Given the description of an element on the screen output the (x, y) to click on. 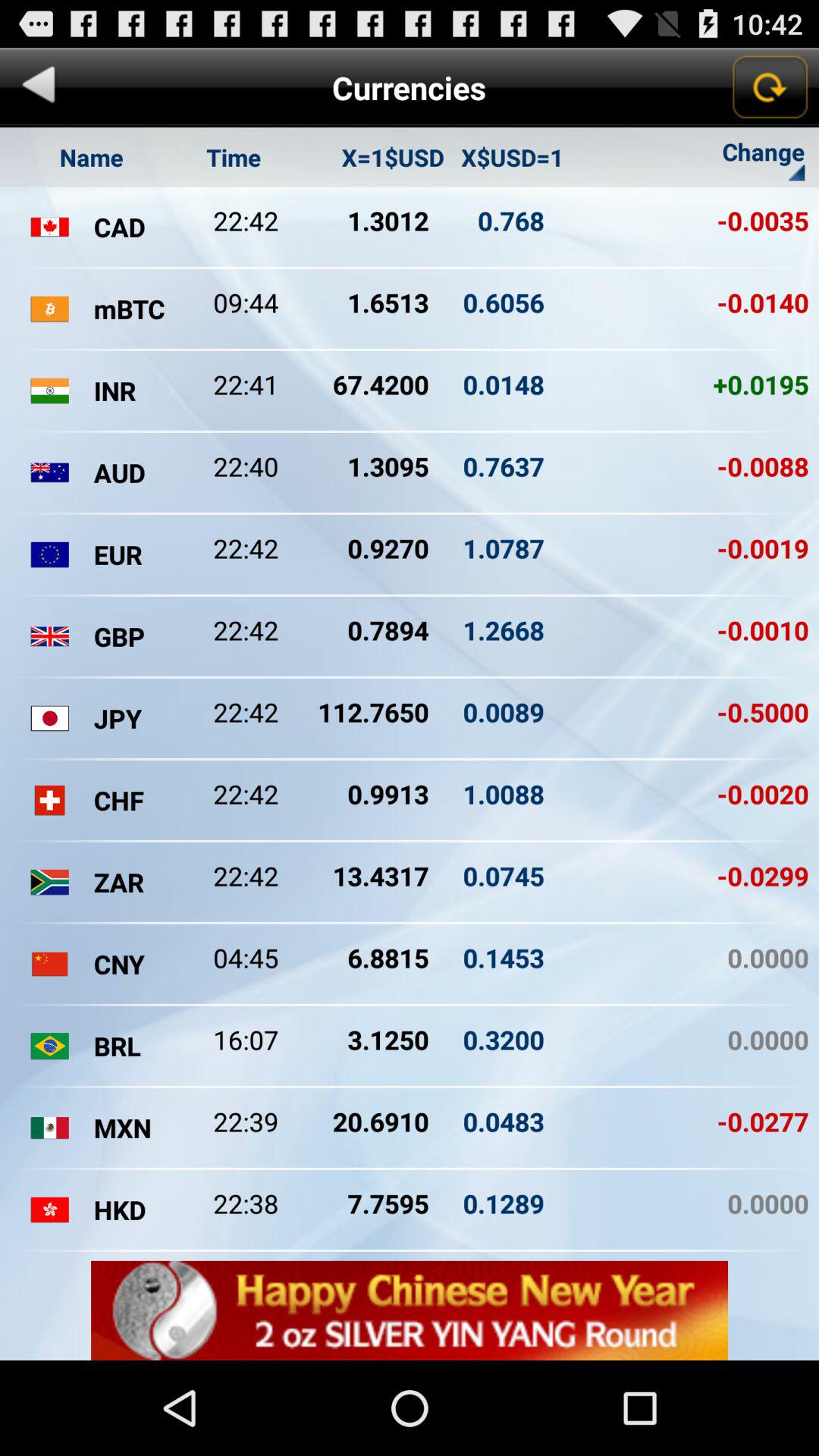
back button (39, 87)
